Given the description of an element on the screen output the (x, y) to click on. 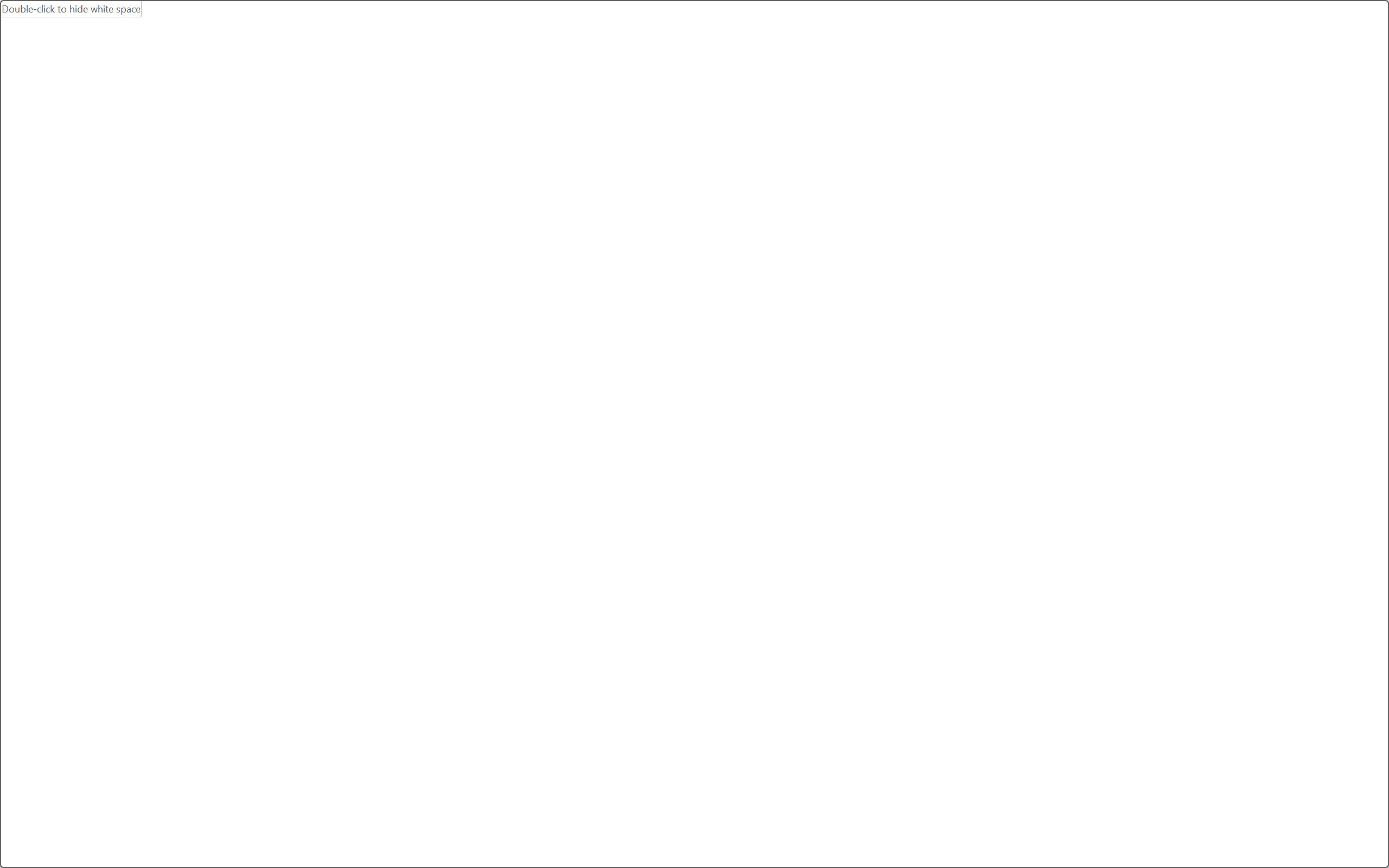
Select (1030, 118)
Styles (978, 113)
Microsoft search (715, 19)
Grow Font (233, 82)
land hemisphere (863, 480)
Asian Layout (542, 82)
Heading 2 (927, 96)
Strikethrough (169, 108)
Solar System (520, 448)
